Given the description of an element on the screen output the (x, y) to click on. 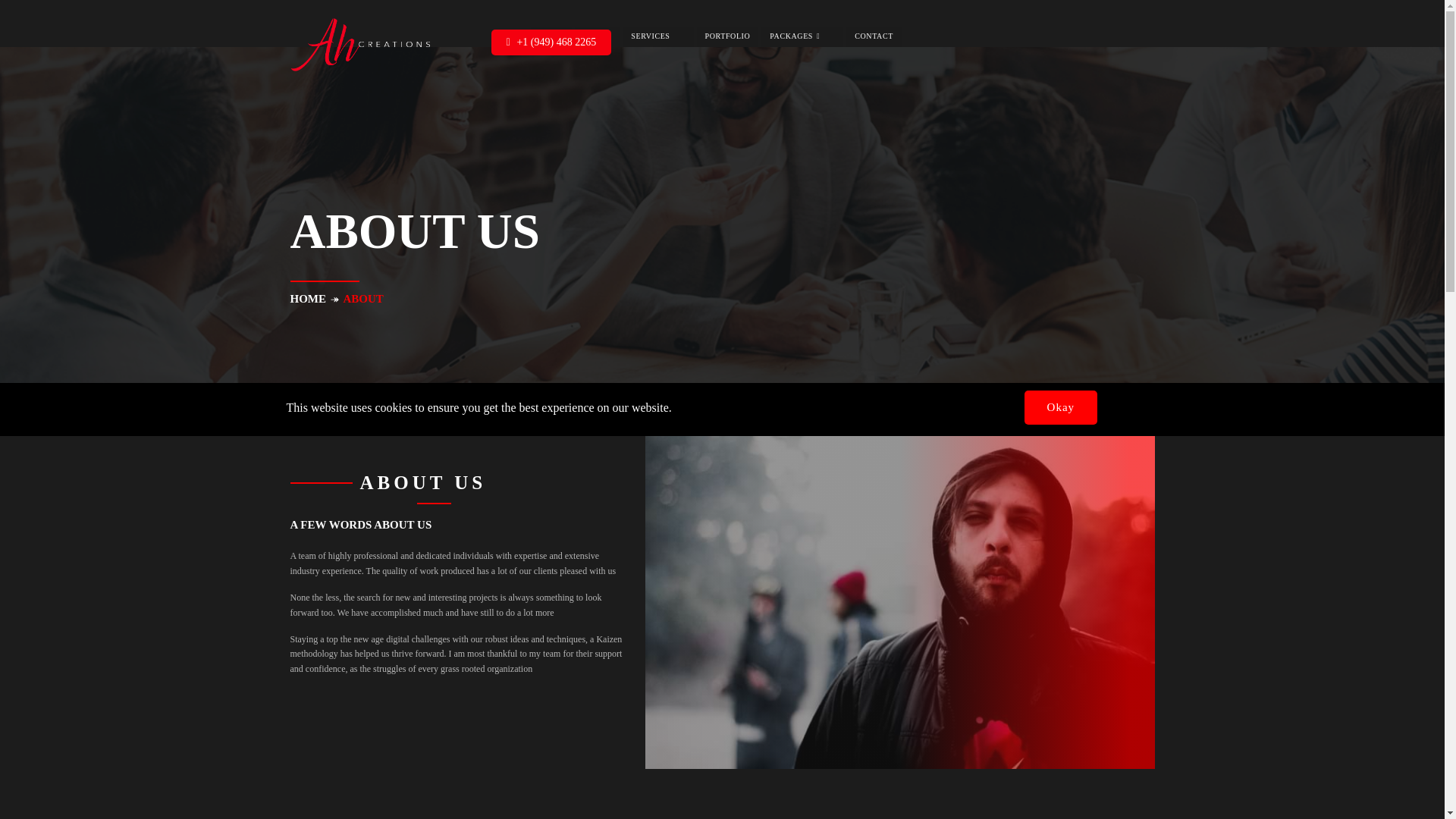
Okay (1061, 407)
PORTFOLIO (727, 36)
HOME (551, 36)
HOME (307, 298)
Asset00 1 (361, 42)
SERVICES (658, 36)
ABOUT (597, 36)
CONTACT (873, 36)
PACKAGES (802, 36)
